Given the description of an element on the screen output the (x, y) to click on. 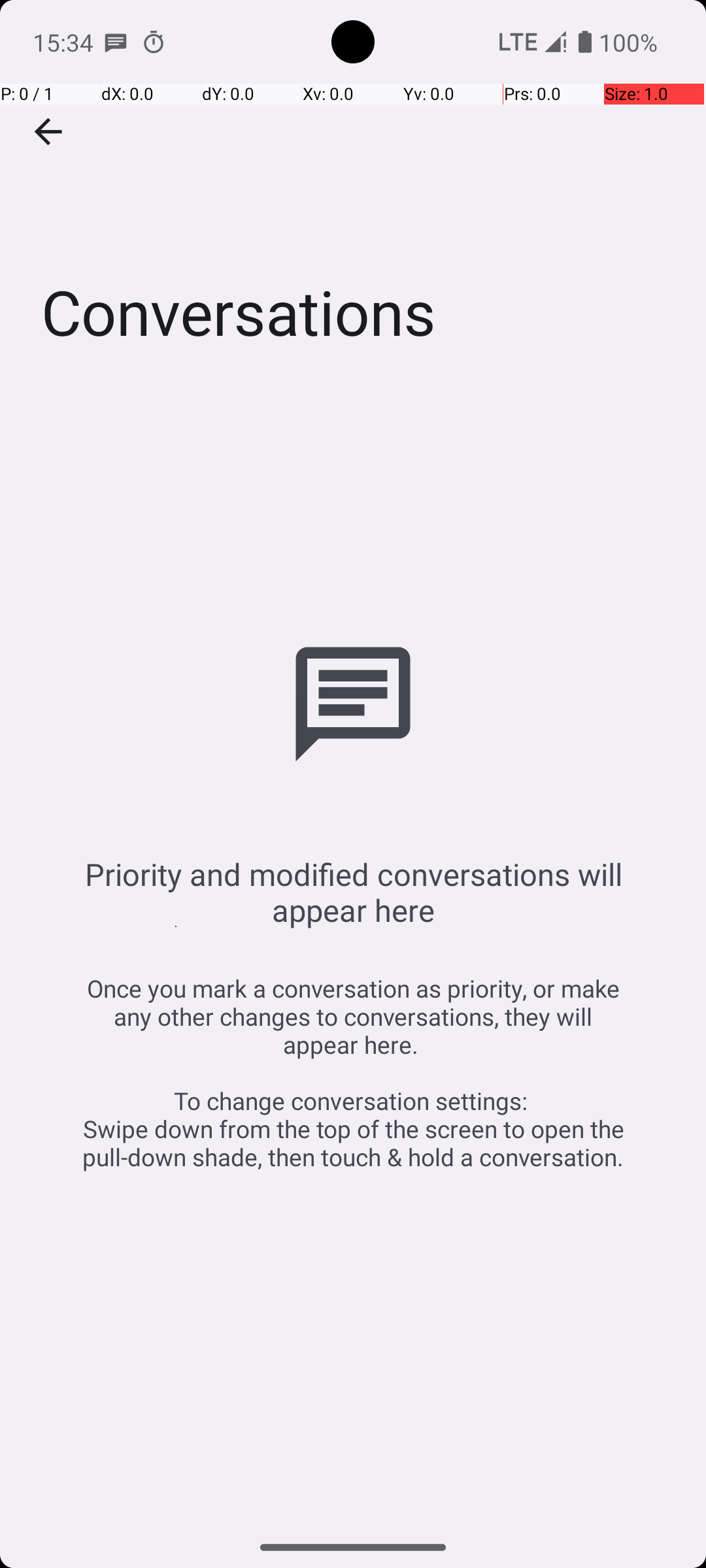
Priority and modified conversations will appear here Element type: android.widget.TextView (352, 891)
Once you mark a conversation as priority, or make any other changes to conversations, they will appear here. 

To change conversation settings: 
Swipe down from the top of the screen to open the pull-down shade, then touch & hold a conversation. Element type: android.widget.TextView (352, 1072)
